Given the description of an element on the screen output the (x, y) to click on. 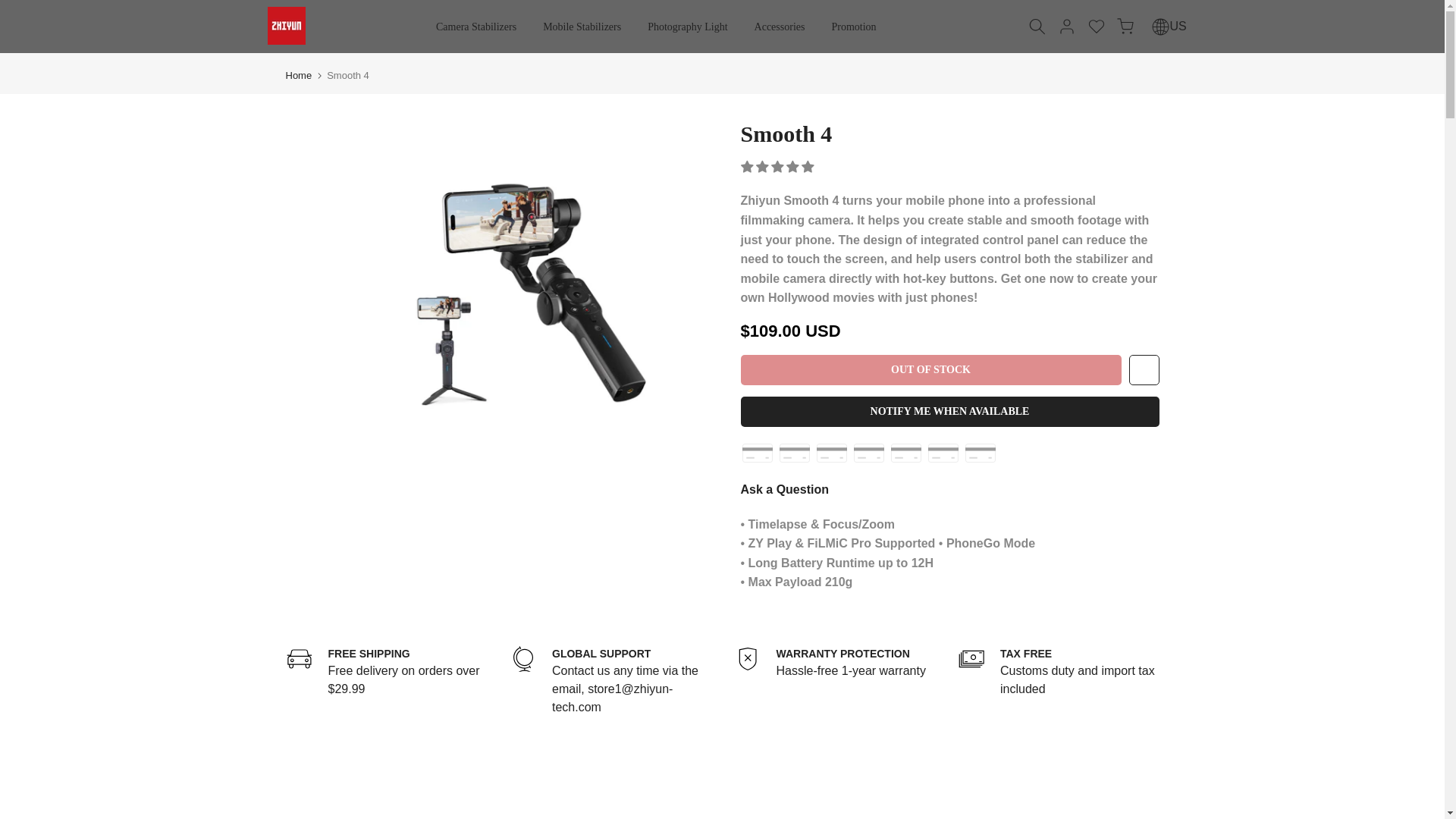
Promotion (853, 27)
Skip to content (10, 7)
Ask a Question (940, 489)
OUT OF STOCK (930, 369)
Photography Light (834, 669)
NOTIFY ME WHEN AVAILABLE (687, 27)
Camera Stabilizers (948, 411)
Mobile Stabilizers (476, 27)
Accessories (581, 27)
